Given the description of an element on the screen output the (x, y) to click on. 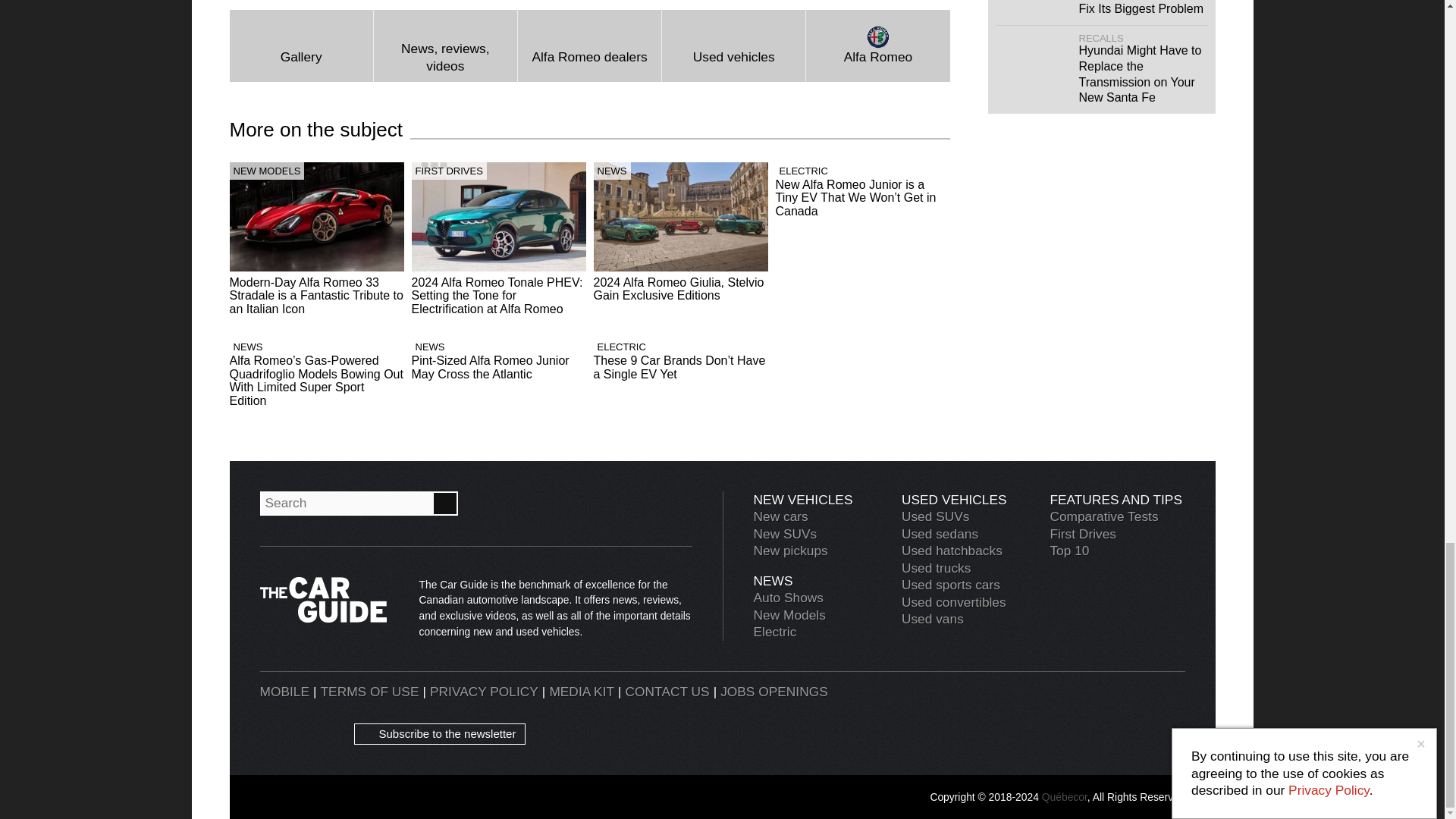
Le Guide de l'auto (1078, 714)
Used Alfa Romeo Giulia (733, 45)
Otogo (1149, 714)
